Given the description of an element on the screen output the (x, y) to click on. 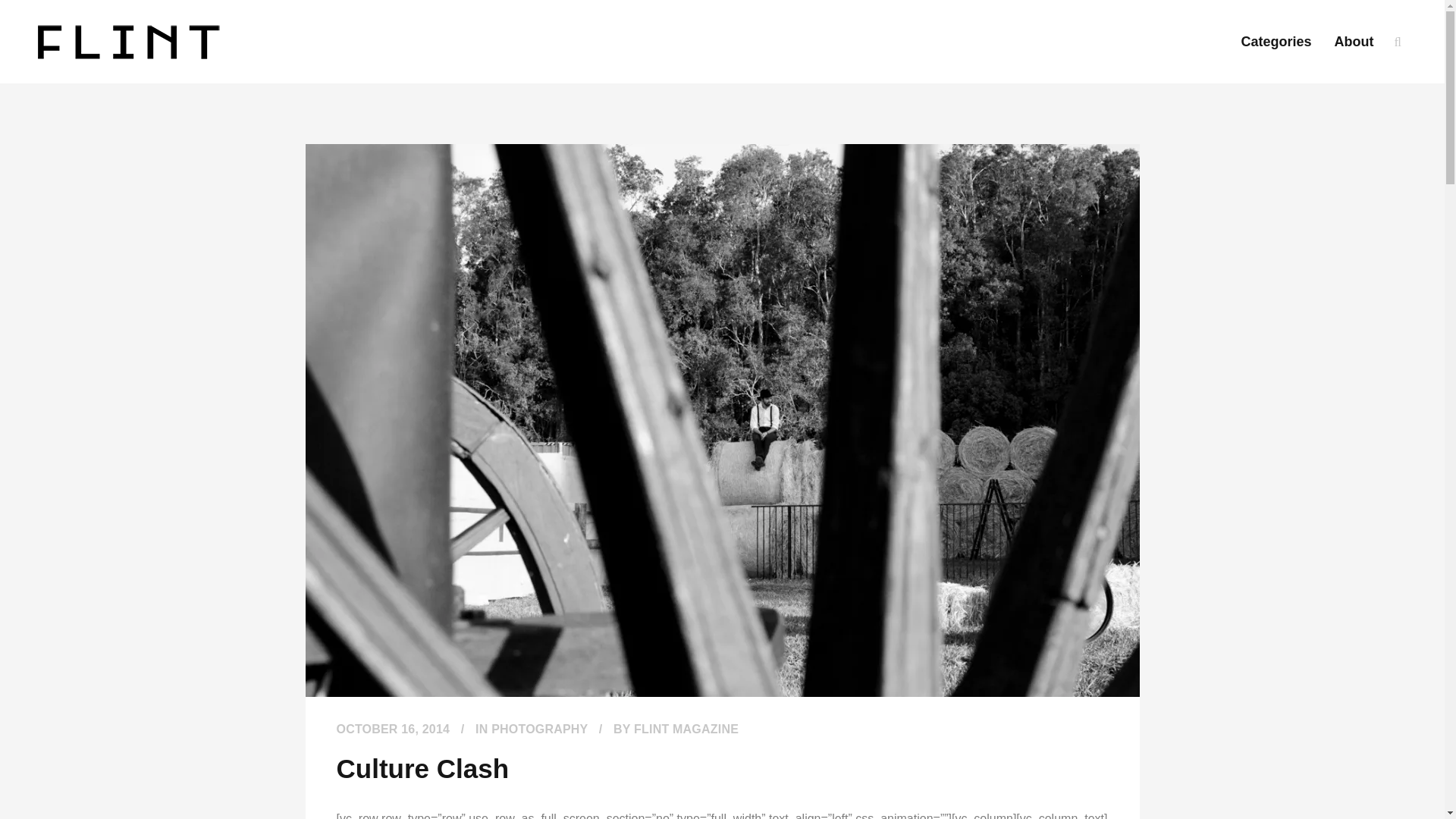
PHOTOGRAPHY (540, 728)
FLINT MAGAZINE (685, 728)
Categories (1276, 41)
